Given the description of an element on the screen output the (x, y) to click on. 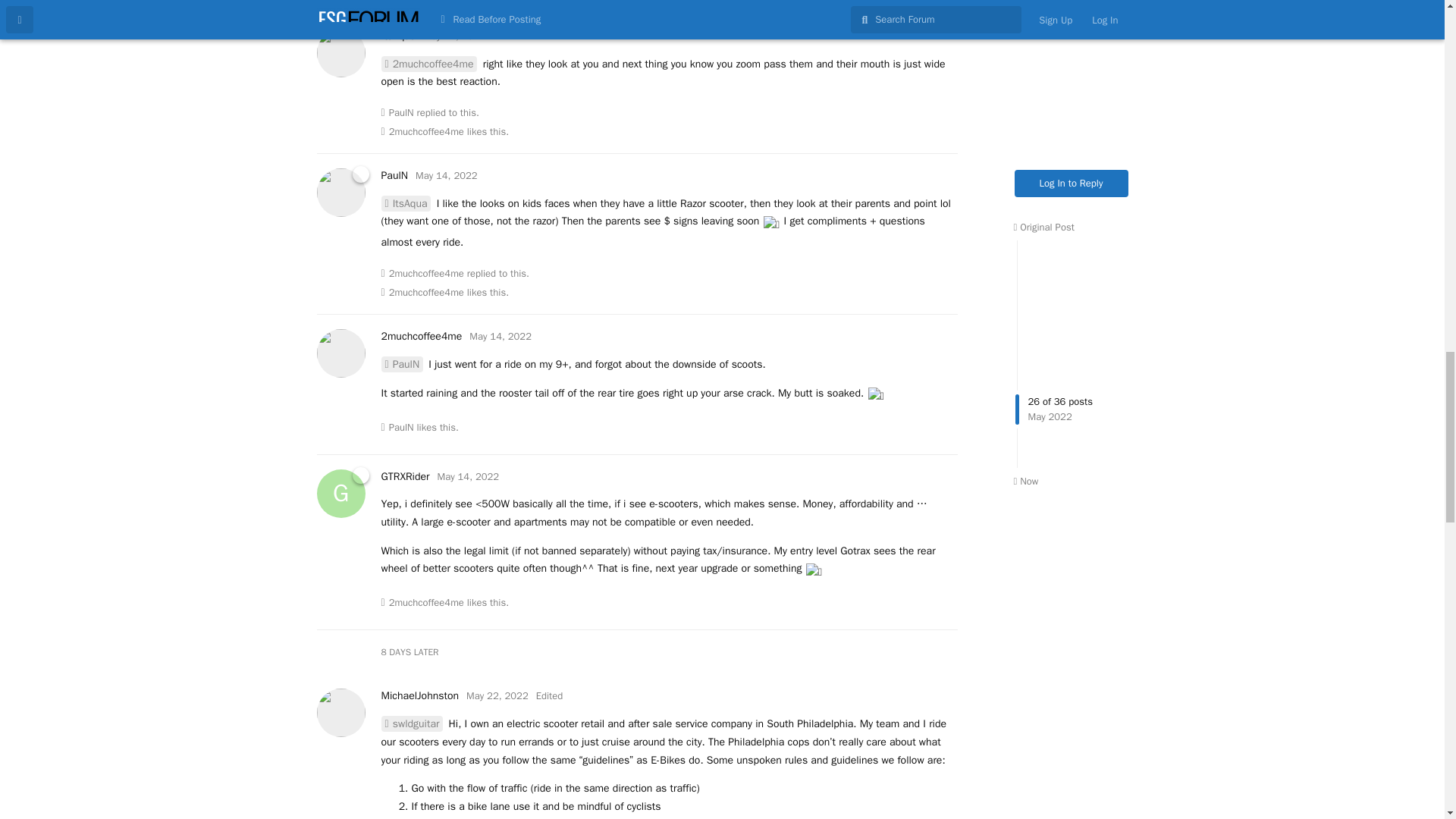
Saturday, May 14, 2022 6:12 AM (499, 336)
Sunday, May 22, 2022 8:32 AM (496, 695)
Saturday, May 14, 2022 8:47 AM (468, 476)
Saturday, May 14, 2022 6:05 AM (445, 174)
Saturday, May 14, 2022 4:09 AM (453, 35)
